Given the description of an element on the screen output the (x, y) to click on. 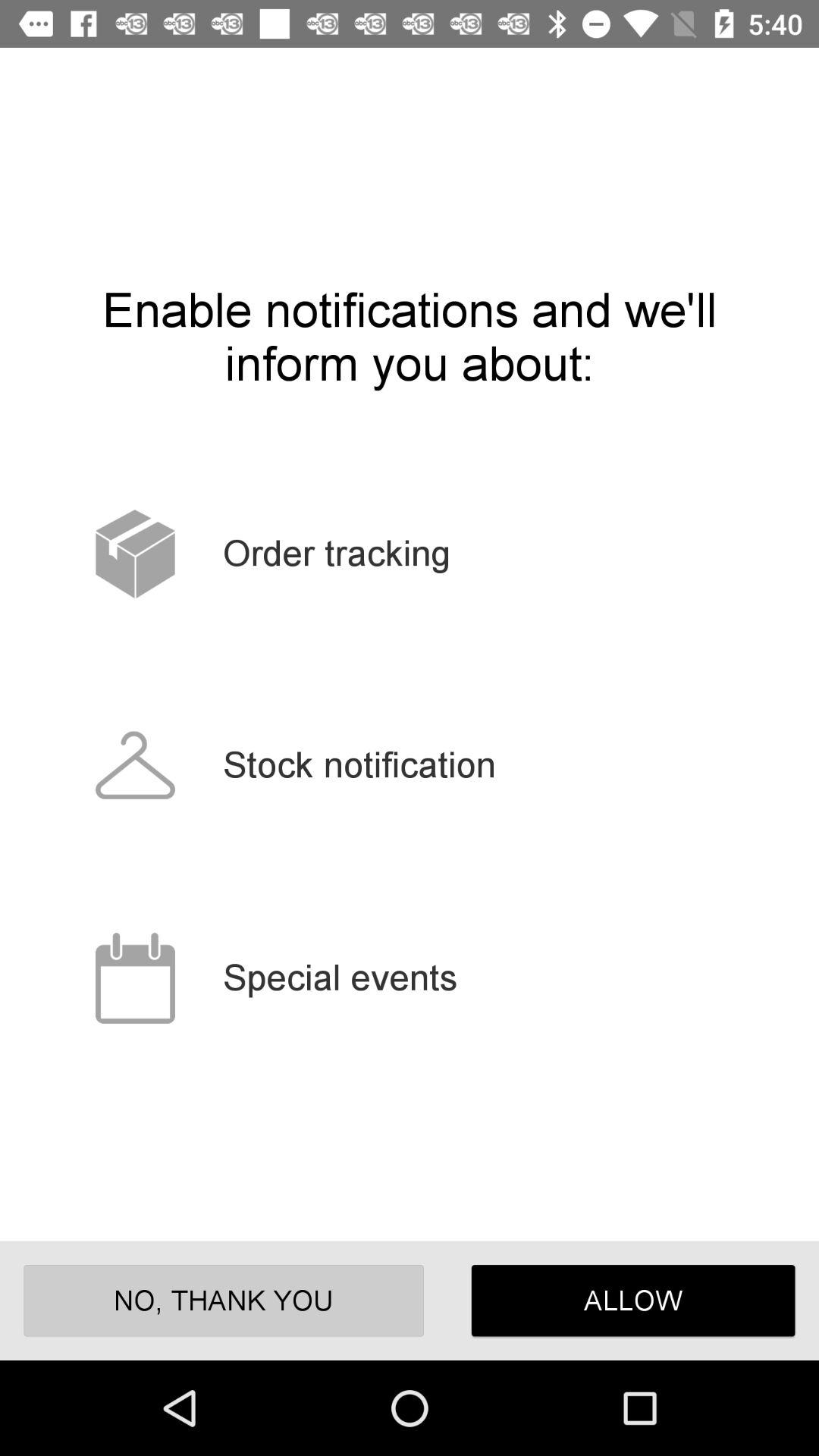
click allow item (633, 1300)
